Given the description of an element on the screen output the (x, y) to click on. 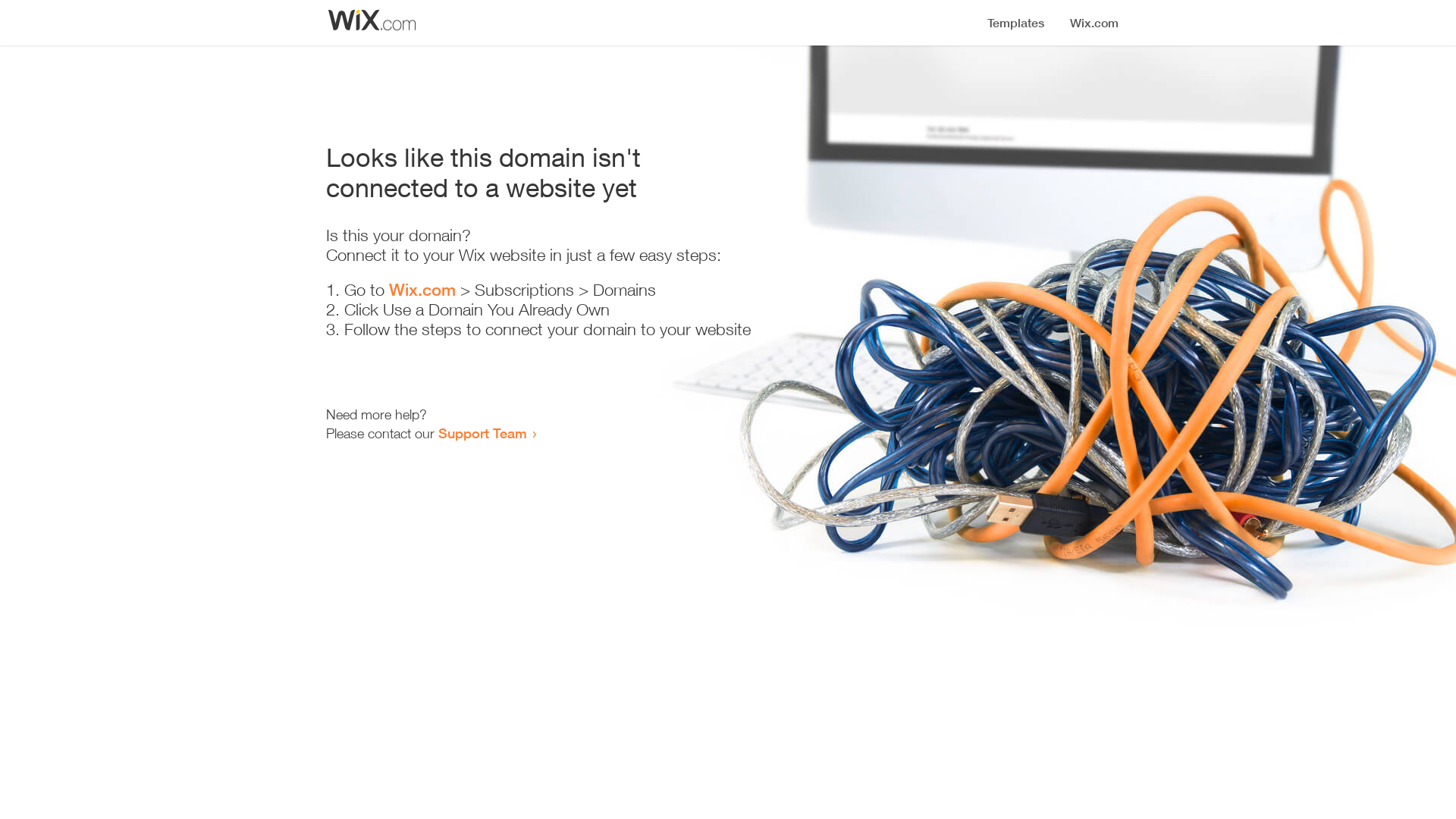
Wix.com Element type: text (422, 289)
Support Team Element type: text (482, 432)
